Given the description of an element on the screen output the (x, y) to click on. 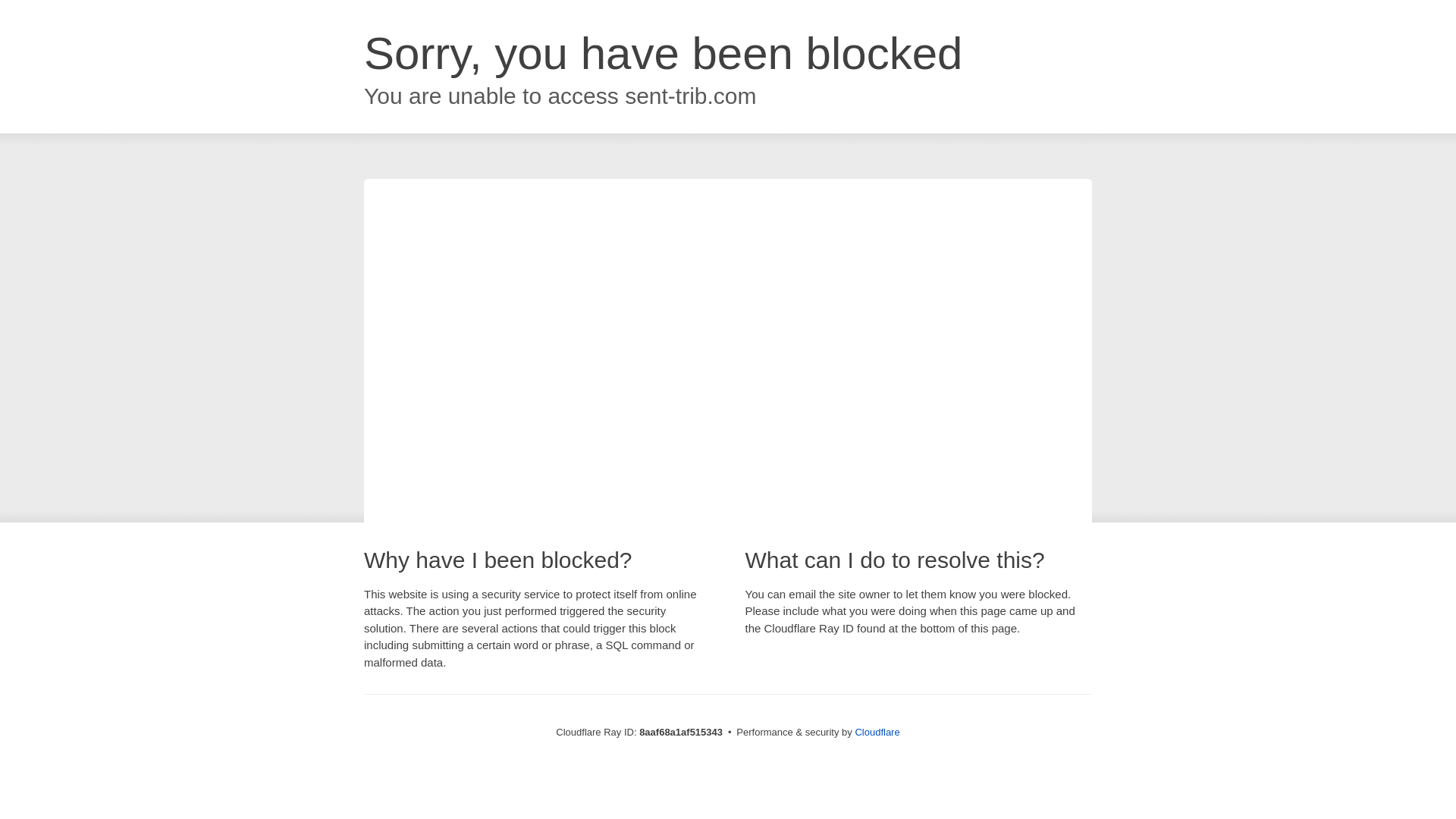
Cloudflare (876, 731)
